Given the description of an element on the screen output the (x, y) to click on. 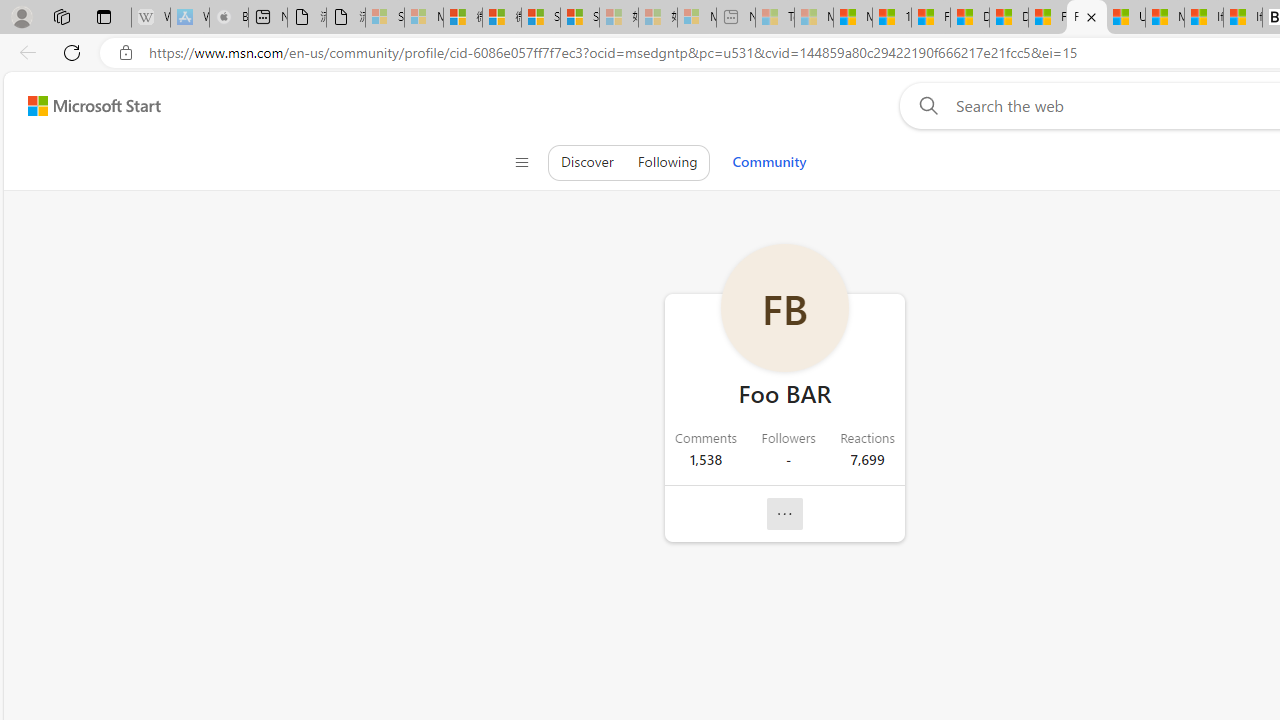
Marine life - MSN - Sleeping (813, 17)
Top Stories - MSN - Sleeping (774, 17)
Community (768, 161)
Class: cwt-icon-vector (785, 514)
Food and Drink - MSN (930, 17)
Sign in to your Microsoft account - Sleeping (385, 17)
Drinking tea every day is proven to delay biological aging (1008, 17)
